Given the description of an element on the screen output the (x, y) to click on. 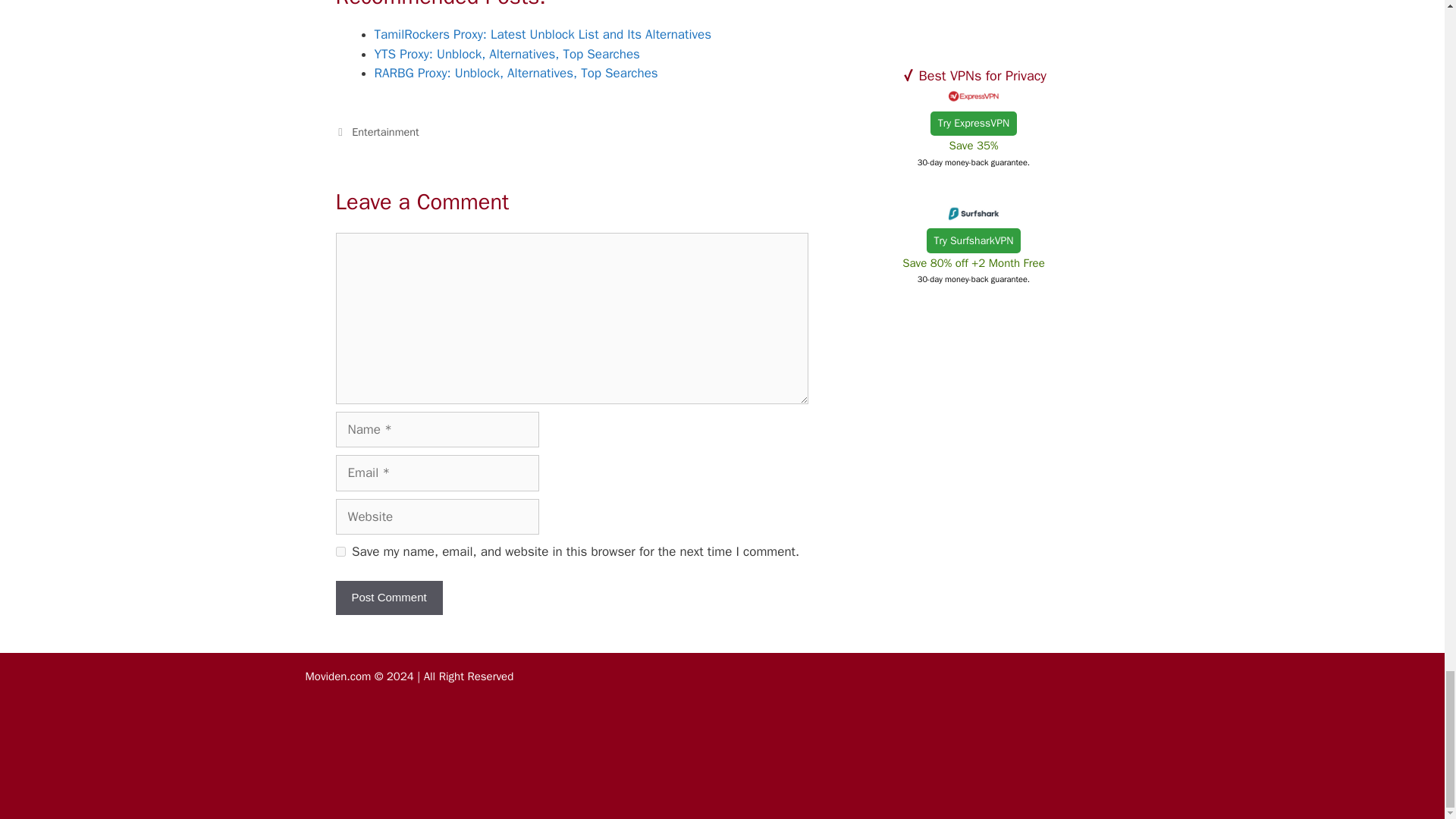
Post Comment (388, 597)
yes (339, 551)
DMCA.com Protection Status (1024, 777)
